Given the description of an element on the screen output the (x, y) to click on. 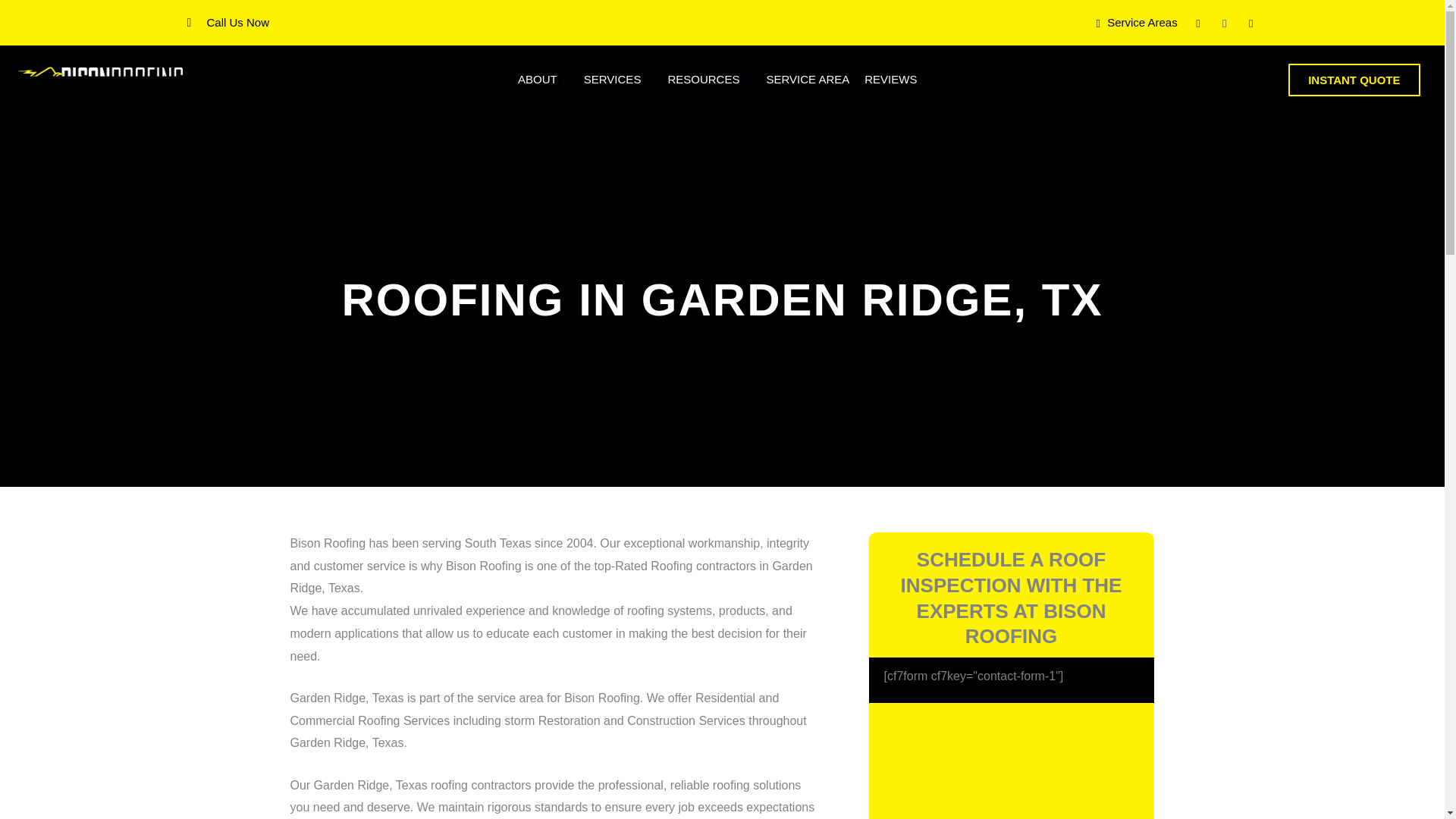
RESOURCES (708, 79)
SERVICES (618, 79)
Call Us Now (237, 21)
ABOUT (543, 79)
Service Areas (1136, 22)
